Given the description of an element on the screen output the (x, y) to click on. 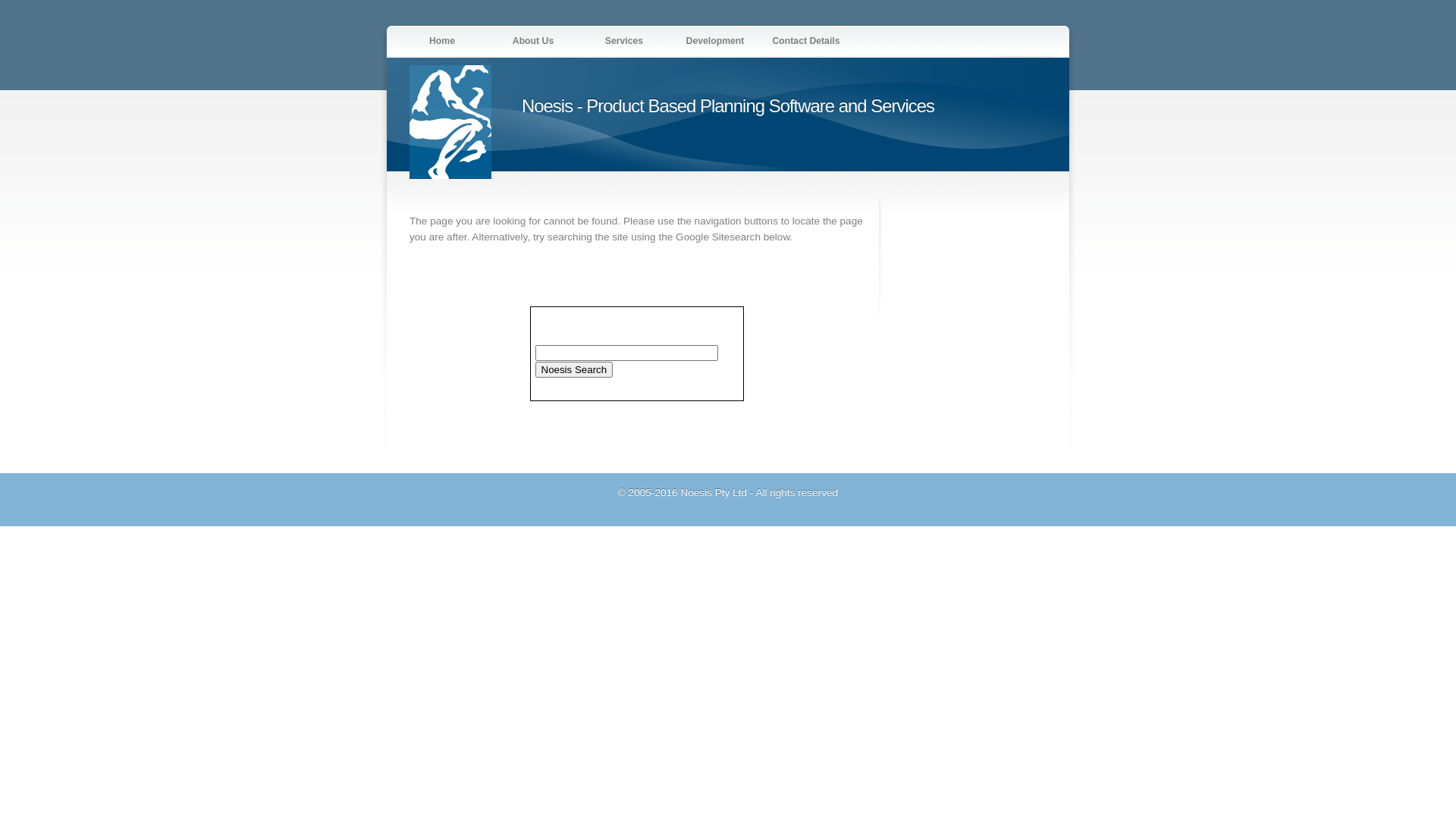
Advertisement Element type: hover (942, 310)
Development Element type: text (714, 40)
Services Element type: text (623, 40)
About Us Element type: text (532, 40)
Home Element type: text (441, 40)
Noesis Search Element type: text (574, 368)
Contact Details Element type: text (805, 40)
